Given the description of an element on the screen output the (x, y) to click on. 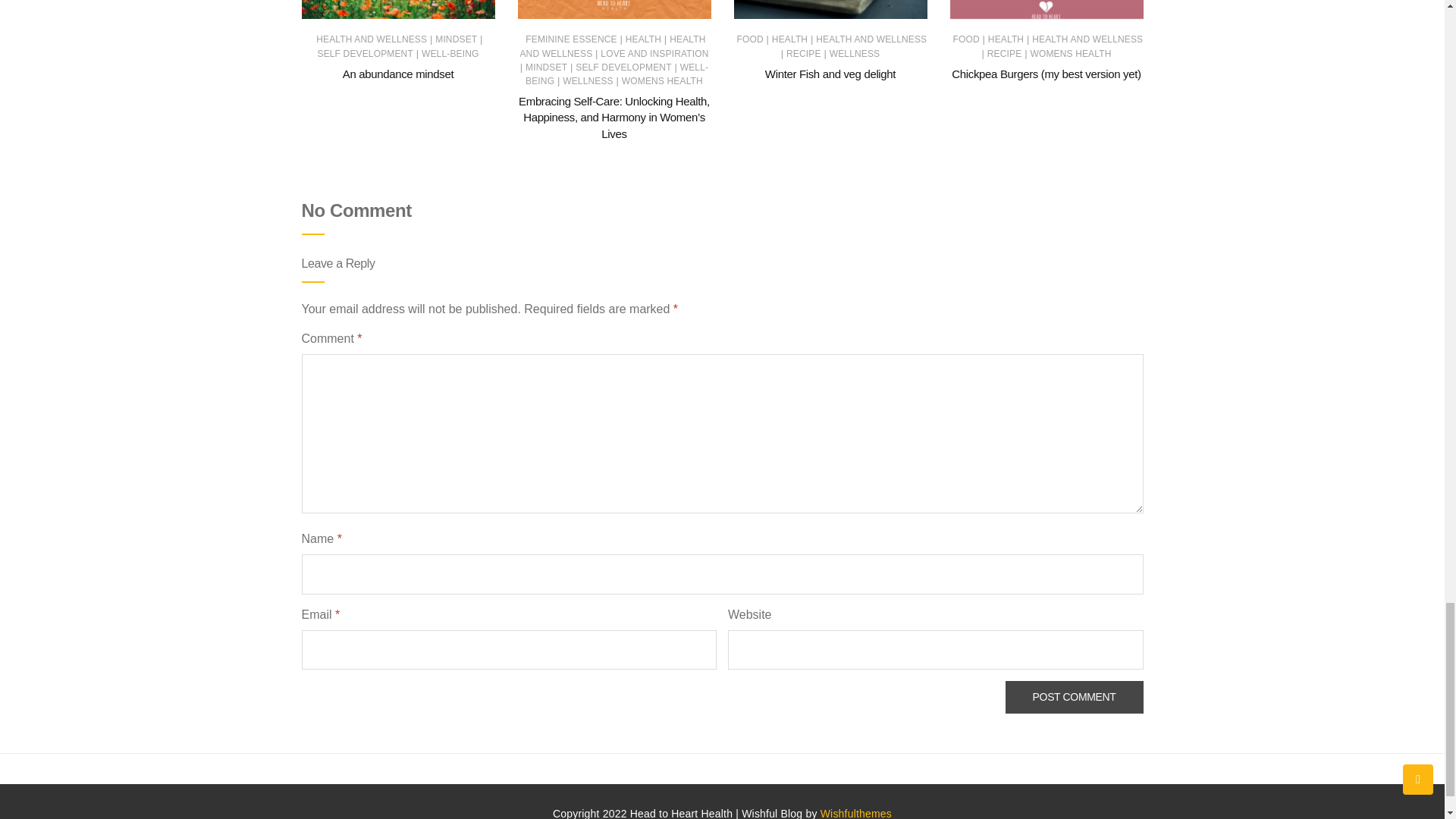
Post Comment (1074, 696)
Winter Fish and veg delight (830, 73)
An abundance mindset (397, 73)
